Given the description of an element on the screen output the (x, y) to click on. 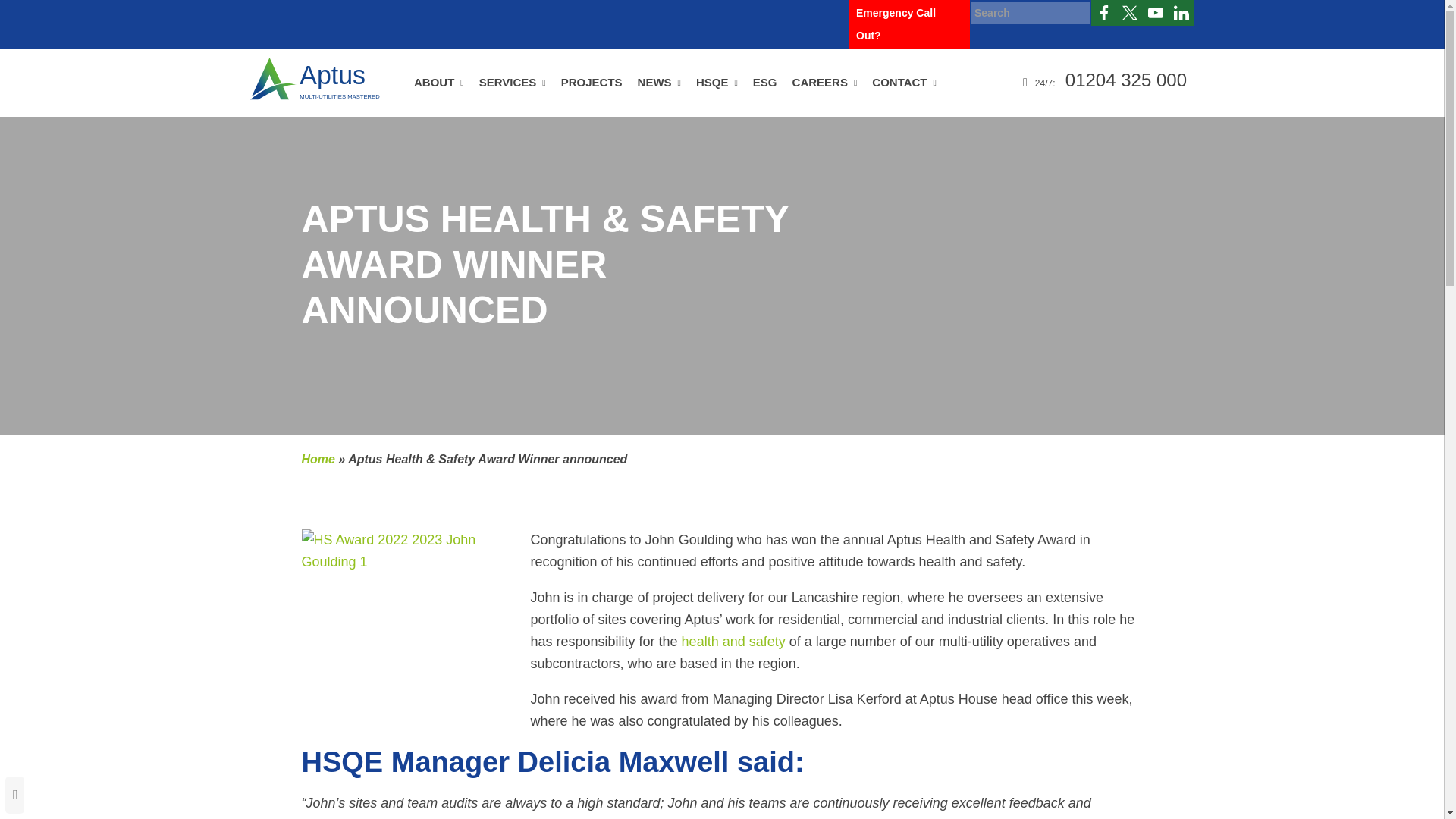
HS Award 2022 2023 John Goulding 1 (408, 627)
Facebook (1103, 12)
Twitter (1129, 12)
Linkedin (1181, 12)
Youtube (1155, 12)
